Given the description of an element on the screen output the (x, y) to click on. 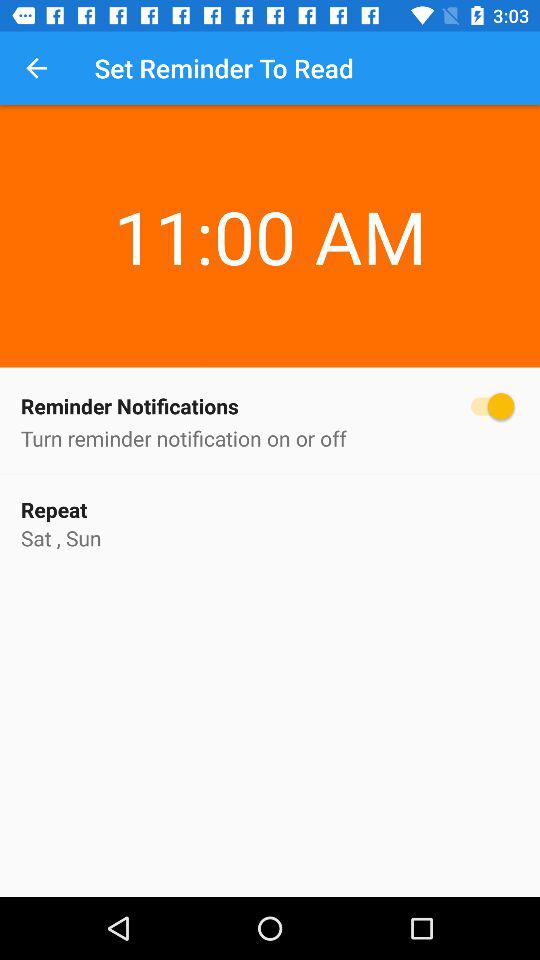
turn on the reminder notifications item (270, 406)
